Given the description of an element on the screen output the (x, y) to click on. 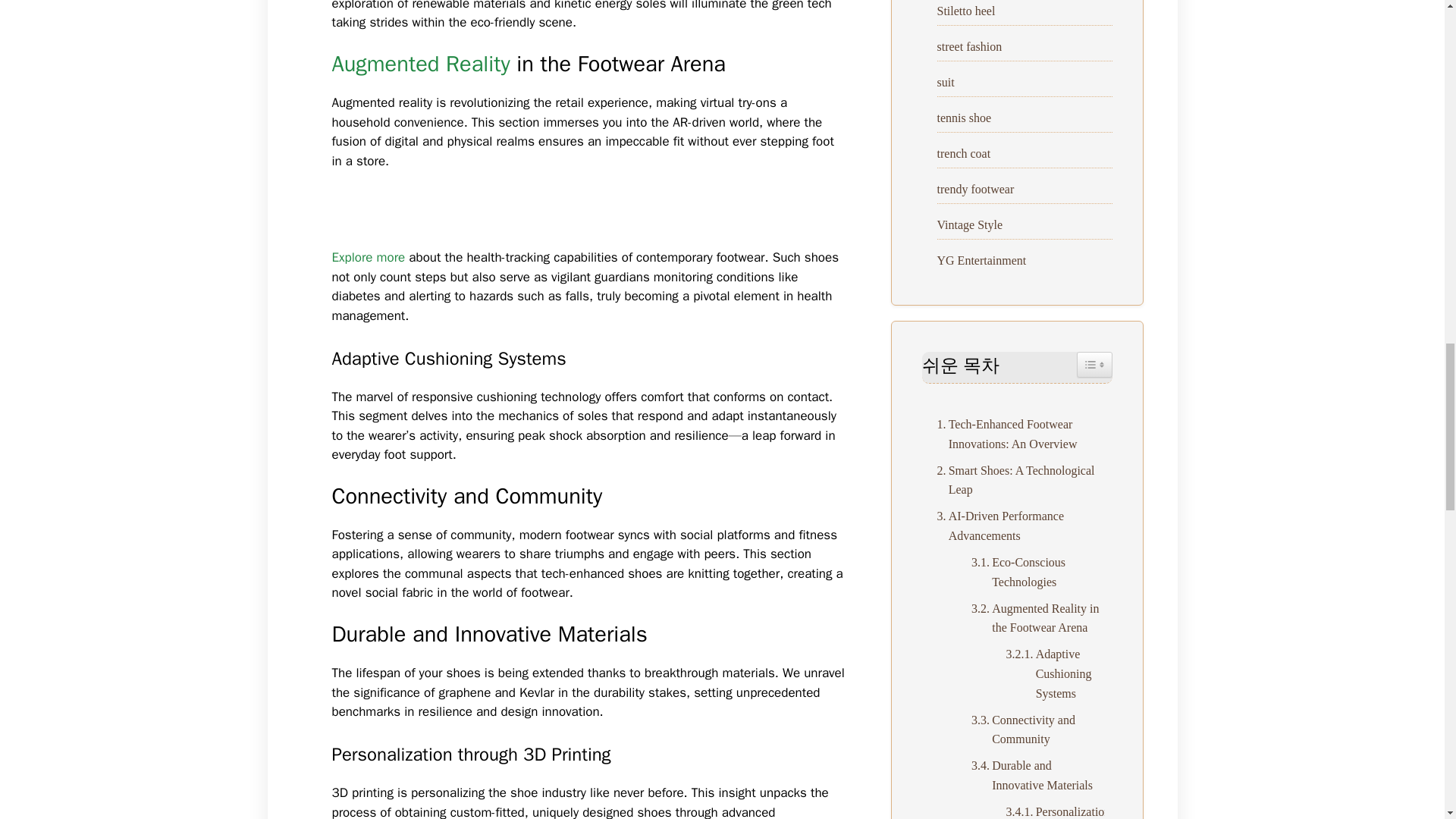
Explore more (368, 257)
Tech-Enhanced Footwear Innovations: An Overview (1017, 433)
Augmented Reality (421, 63)
